Given the description of an element on the screen output the (x, y) to click on. 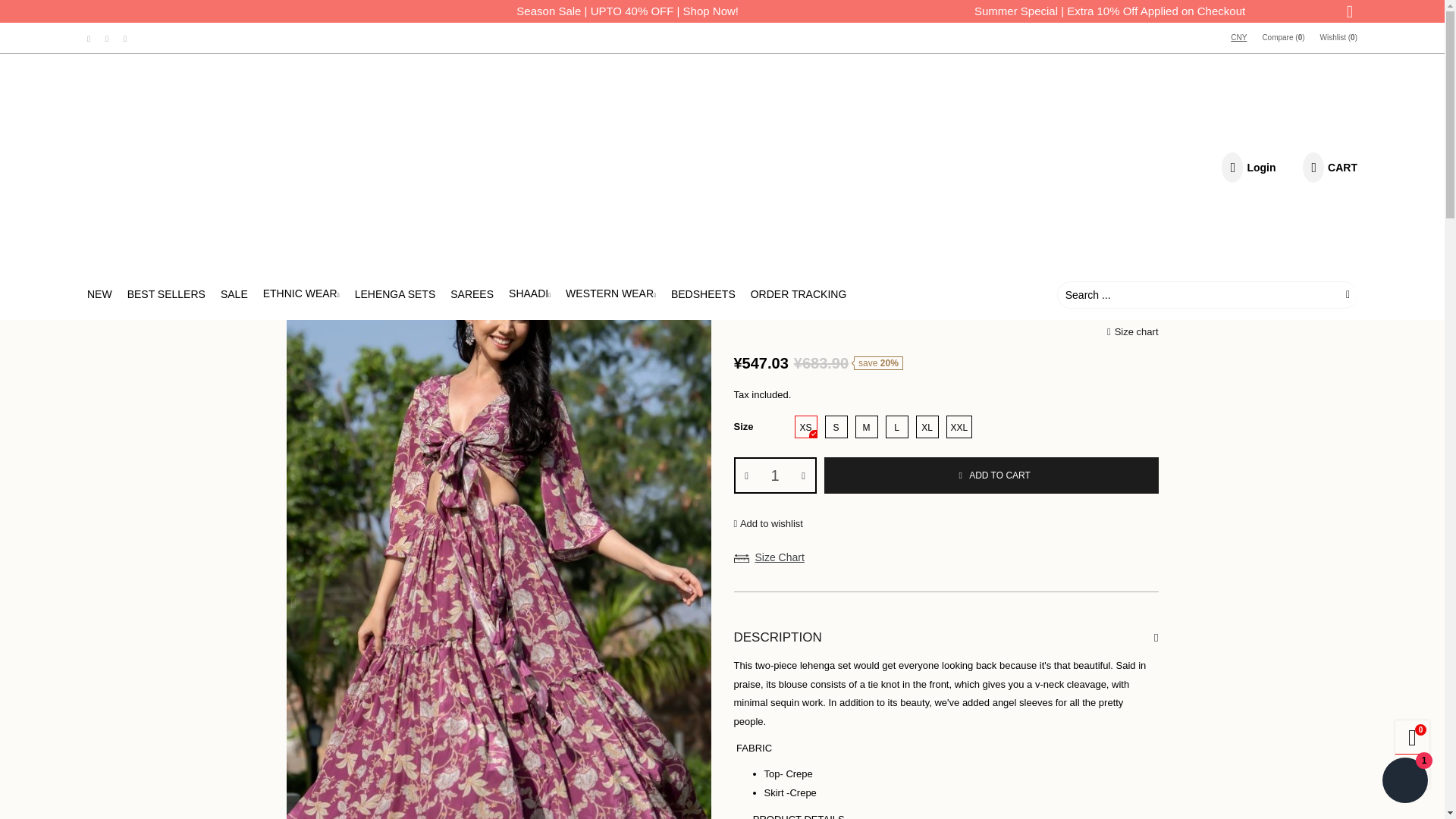
Login (1247, 167)
NEW (99, 294)
SALE (234, 294)
Compare (1282, 37)
ETHNIC WEAR (301, 294)
SALE (234, 294)
Facebook (88, 37)
ETHNIC WEAR (301, 294)
BEST SELLERS (166, 294)
Pinterest (106, 37)
My Account (1247, 167)
CNY (1238, 37)
Cart (1327, 167)
Sign In (1220, 338)
1 (775, 475)
